Given the description of an element on the screen output the (x, y) to click on. 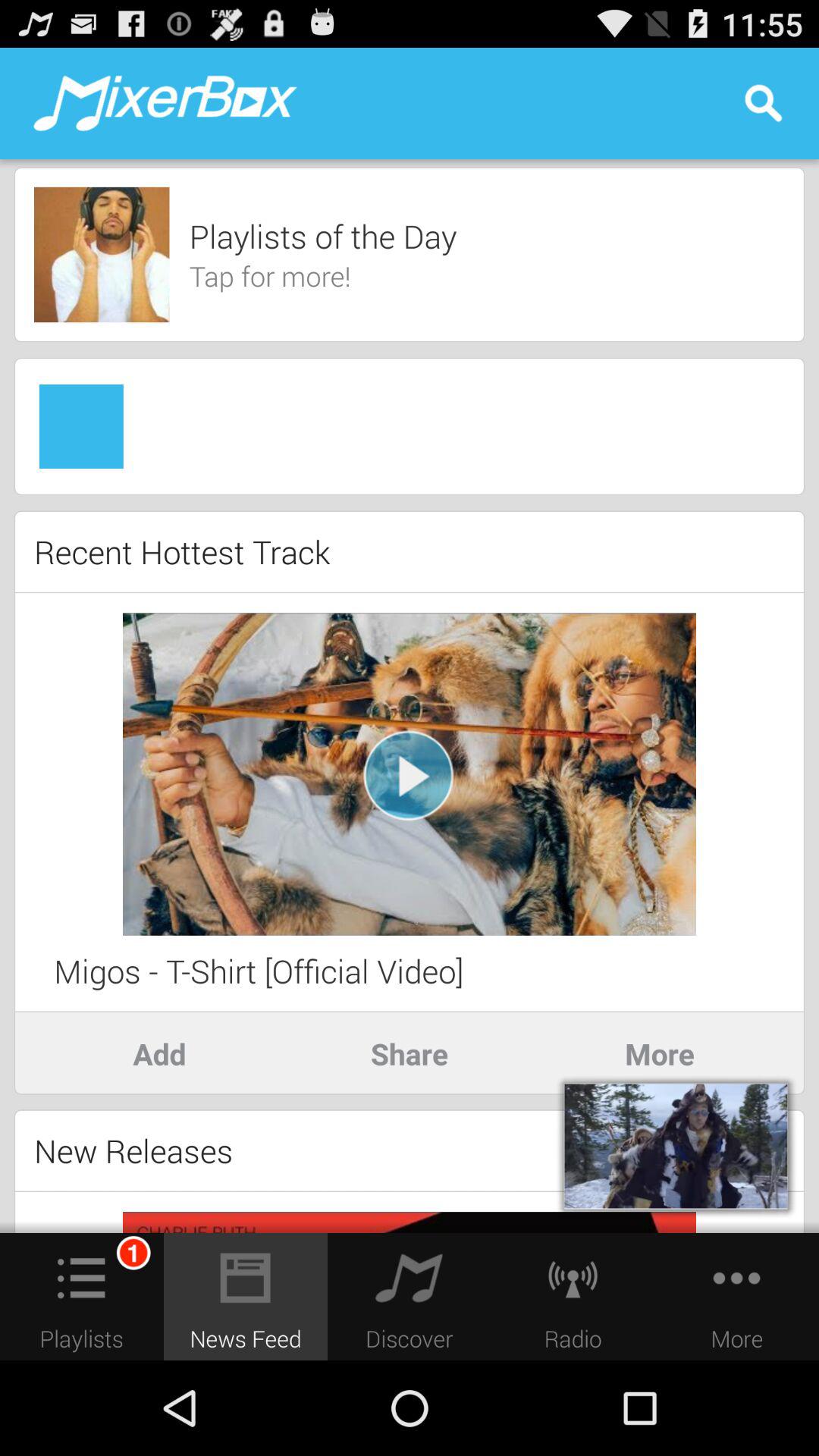
open the item above the tap for more! item (322, 235)
